Given the description of an element on the screen output the (x, y) to click on. 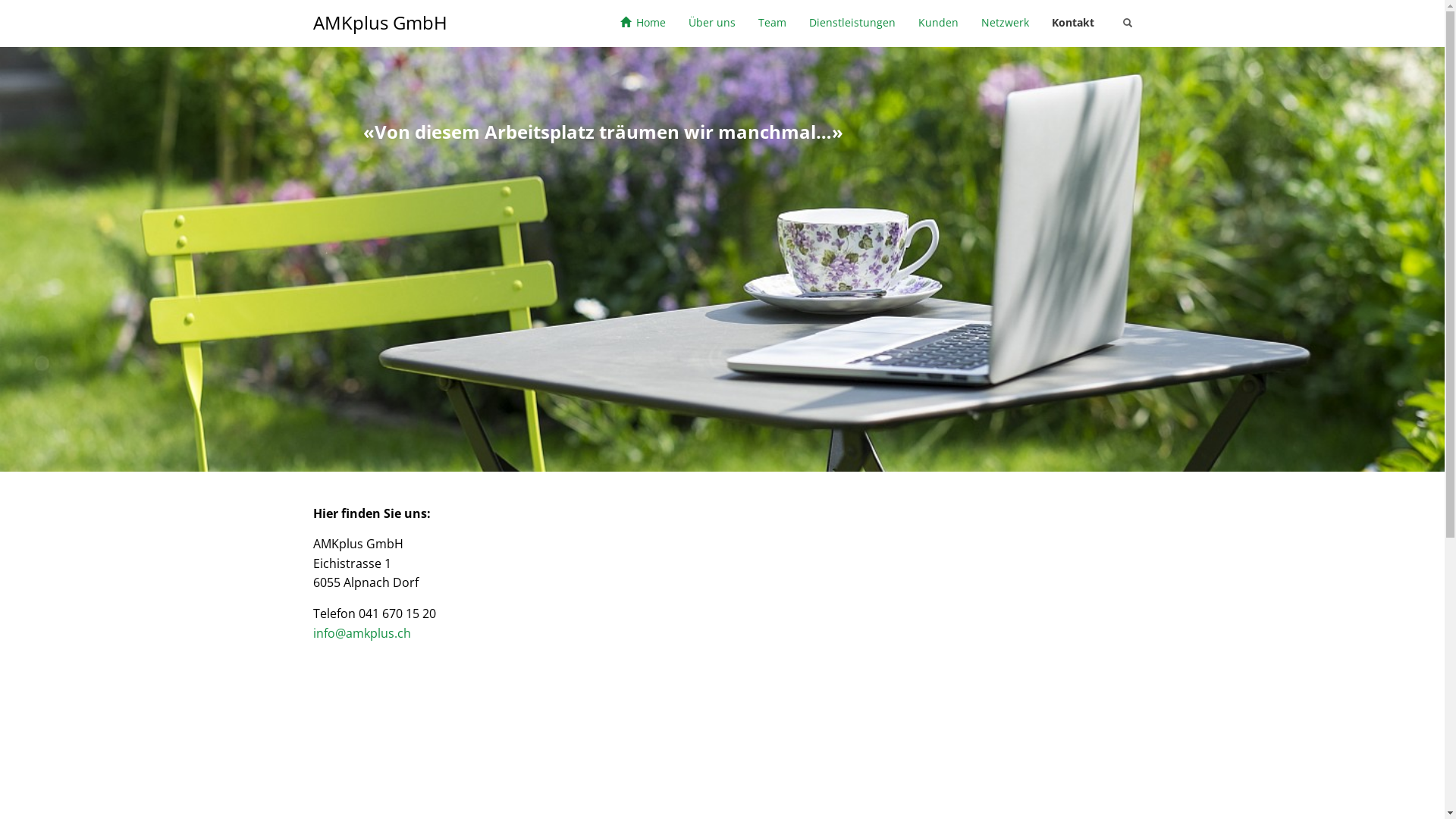
AMKplus GmbH Element type: text (379, 22)
Team Element type: text (771, 22)
Kunden Element type: text (937, 22)
Dienstleistungen Element type: text (851, 22)
Kontakt Element type: text (1072, 22)
info@amkplus.ch Element type: text (361, 632)
Netzwerk Element type: text (1004, 22)
Home Element type: text (642, 22)
